Given the description of an element on the screen output the (x, y) to click on. 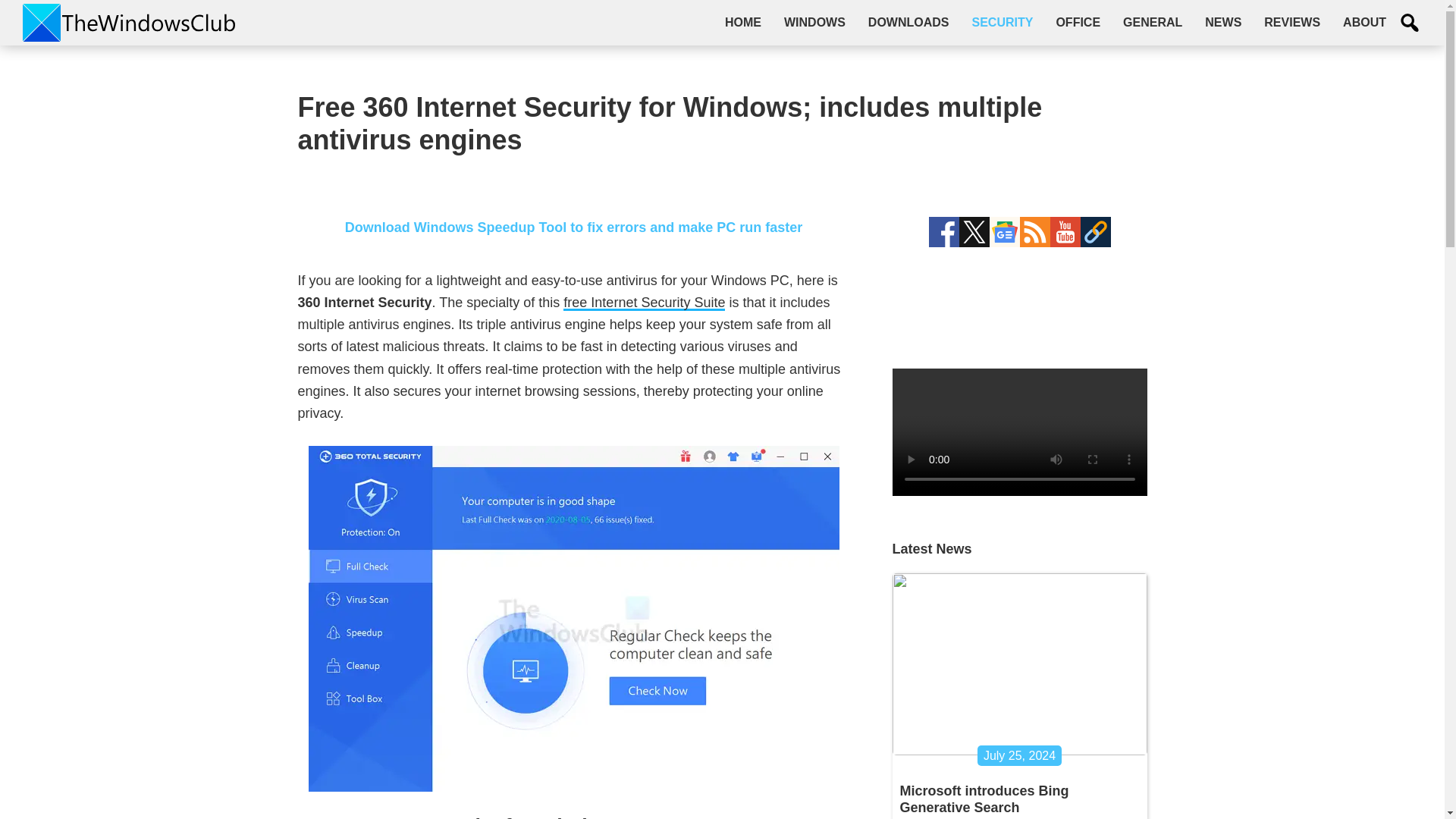
NEWS (1222, 22)
WINDOWS (815, 22)
GENERAL (1152, 22)
SECURITY (1001, 22)
Free Internet Security Suites (644, 302)
Show Search (1409, 22)
OFFICE (1077, 22)
REVIEWS (1292, 22)
